Given the description of an element on the screen output the (x, y) to click on. 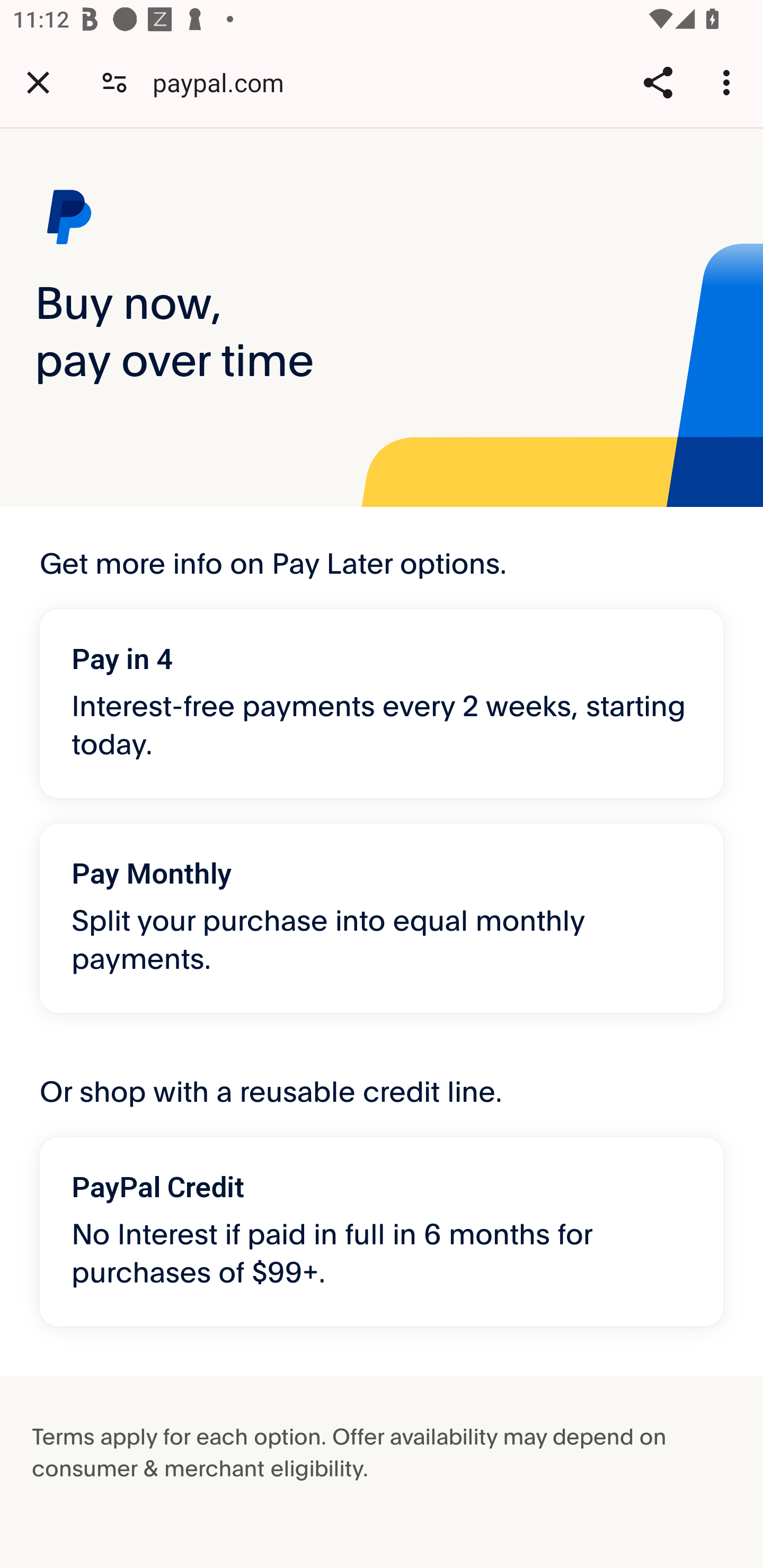
Close tab (38, 82)
Share (657, 82)
Customize and control Google Chrome (729, 82)
Connection is secure (114, 81)
paypal.com (224, 81)
